Given the description of an element on the screen output the (x, y) to click on. 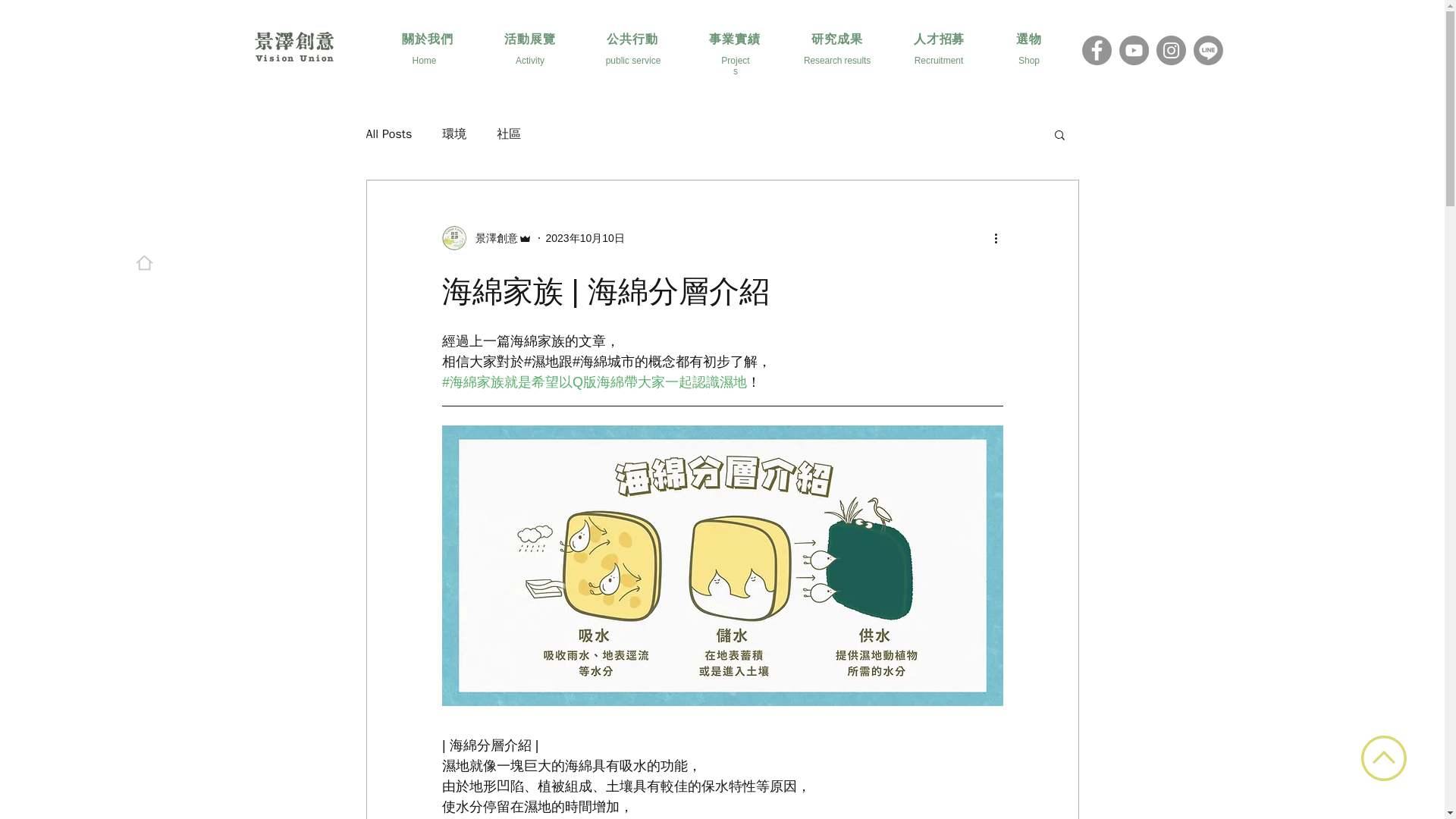
All Posts (388, 133)
Activity (529, 60)
Home (423, 60)
